Given the description of an element on the screen output the (x, y) to click on. 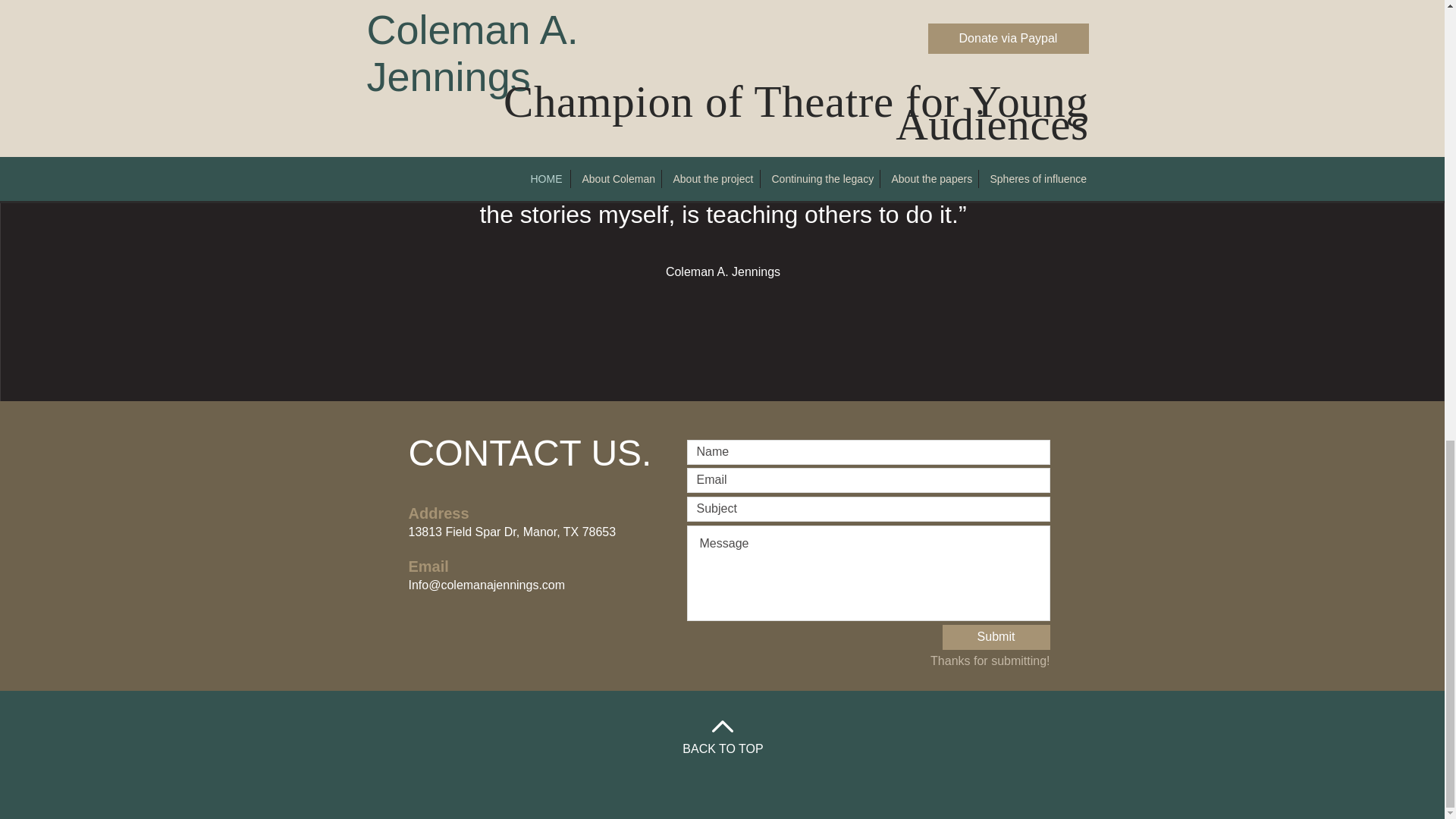
BACK TO TOP (722, 748)
Submit (995, 637)
